Given the description of an element on the screen output the (x, y) to click on. 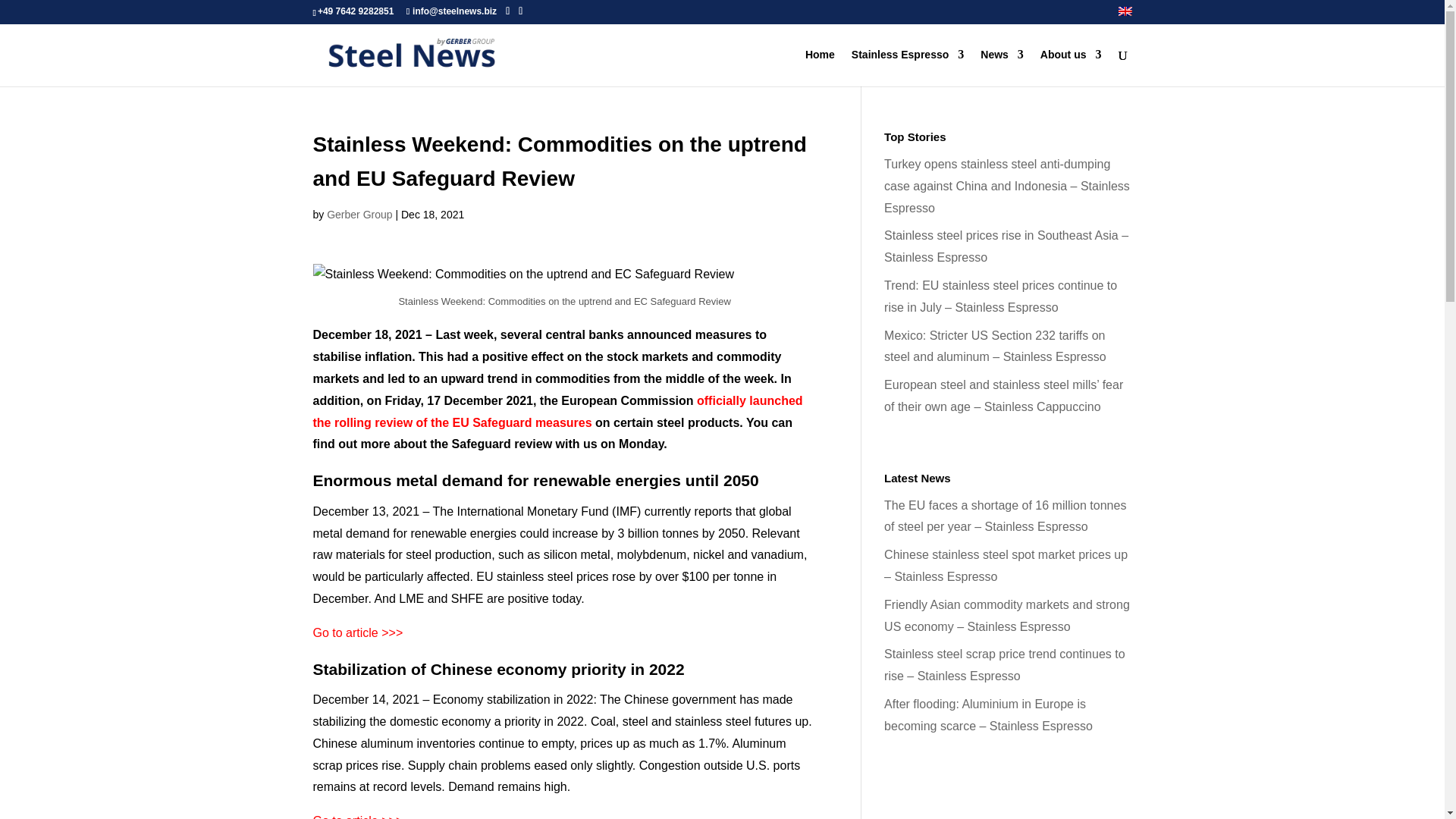
Gerber Group (358, 214)
Stainless Espresso (907, 67)
News (1001, 67)
Posts by Gerber Group (358, 214)
About us (1071, 67)
